Given the description of an element on the screen output the (x, y) to click on. 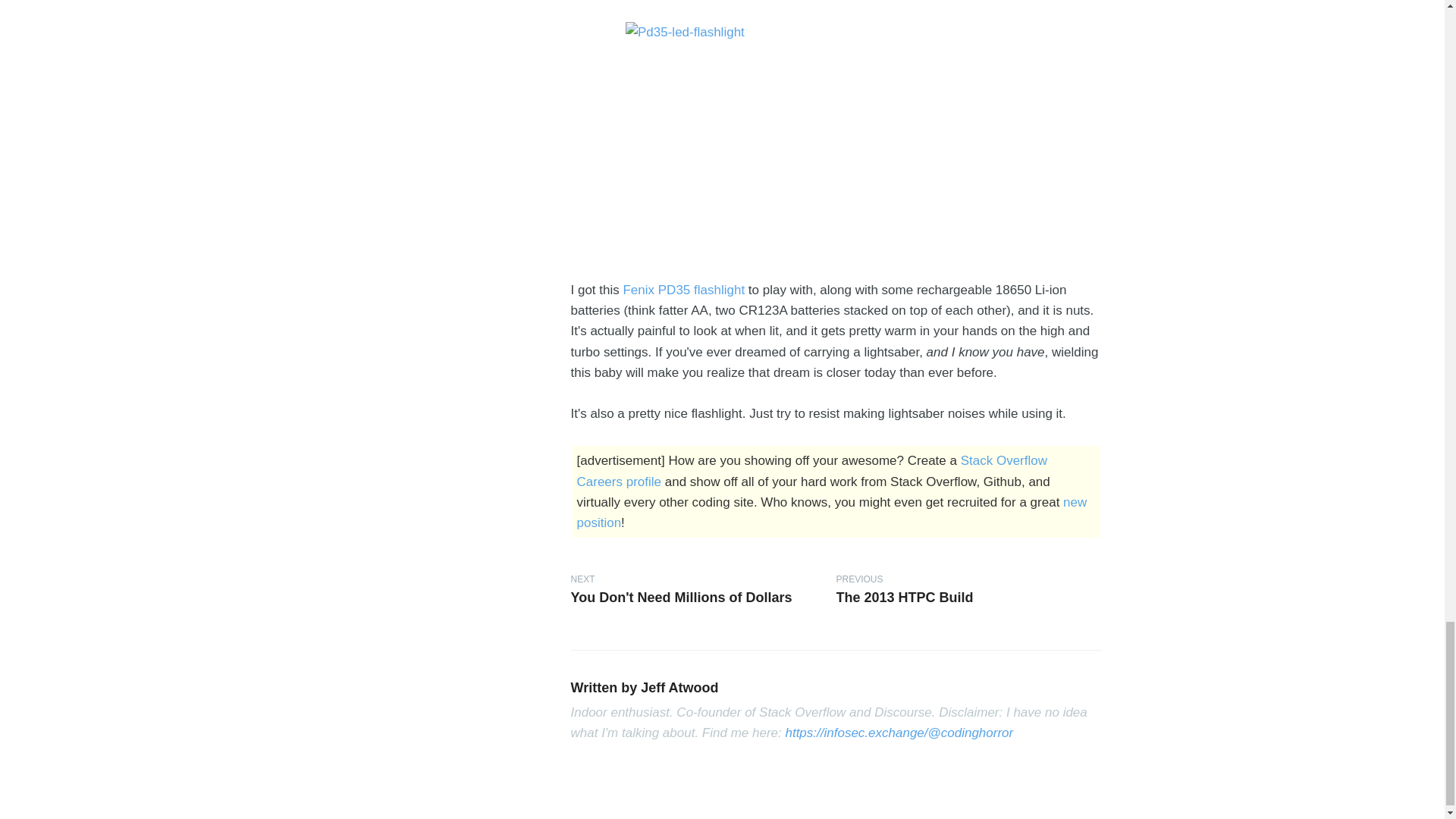
Fenix PD35 flashlight (683, 289)
You Don't Need Millions of Dollars (681, 597)
new position (831, 512)
The 2013 HTPC Build (903, 597)
Pd35-led-flashlight (836, 140)
Stack Overflow Careers profile (811, 470)
